Given the description of an element on the screen output the (x, y) to click on. 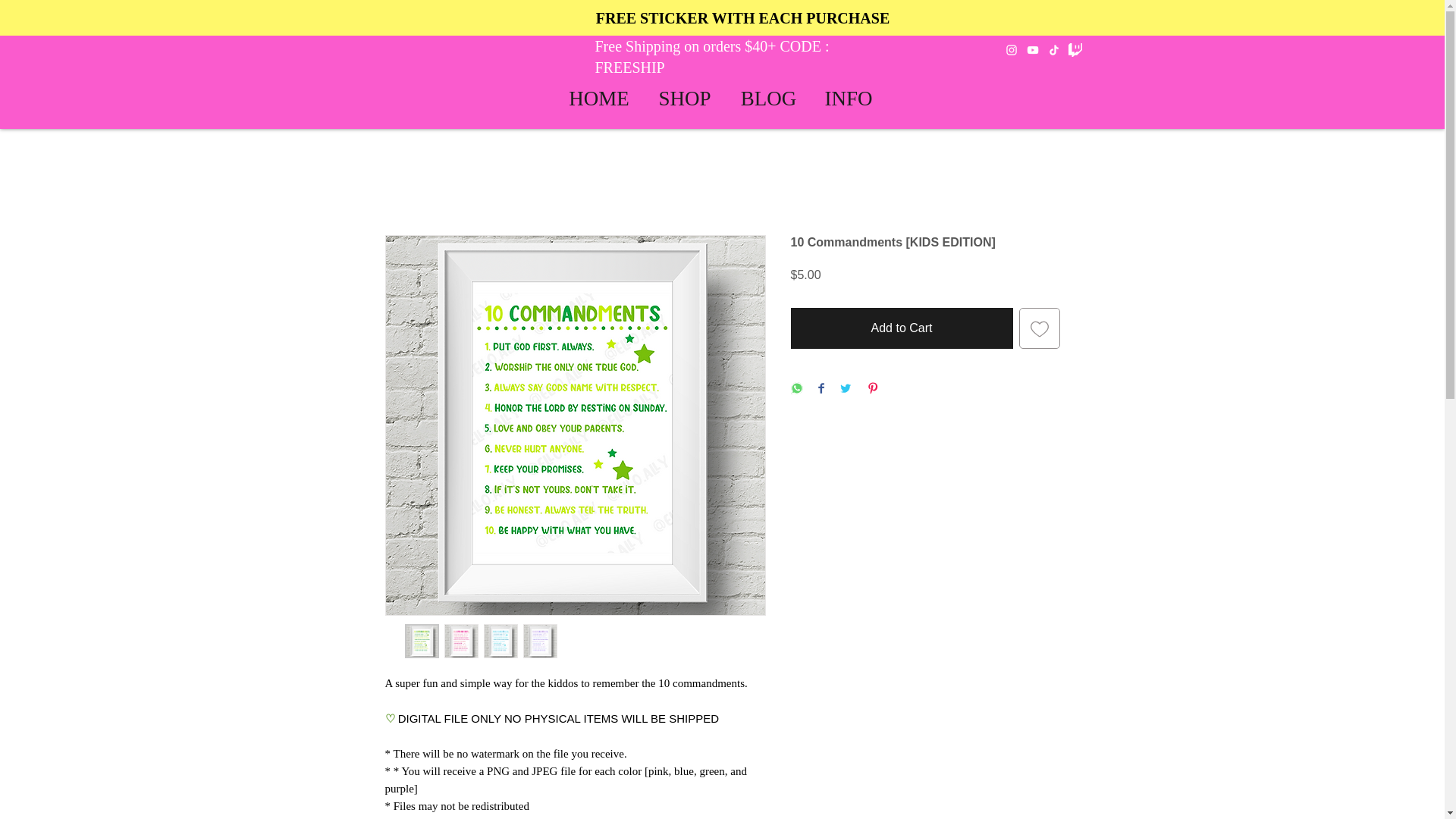
BLOG (768, 96)
INFO (848, 96)
HOME (599, 96)
Add to Cart (900, 327)
SHOP (684, 96)
